Given the description of an element on the screen output the (x, y) to click on. 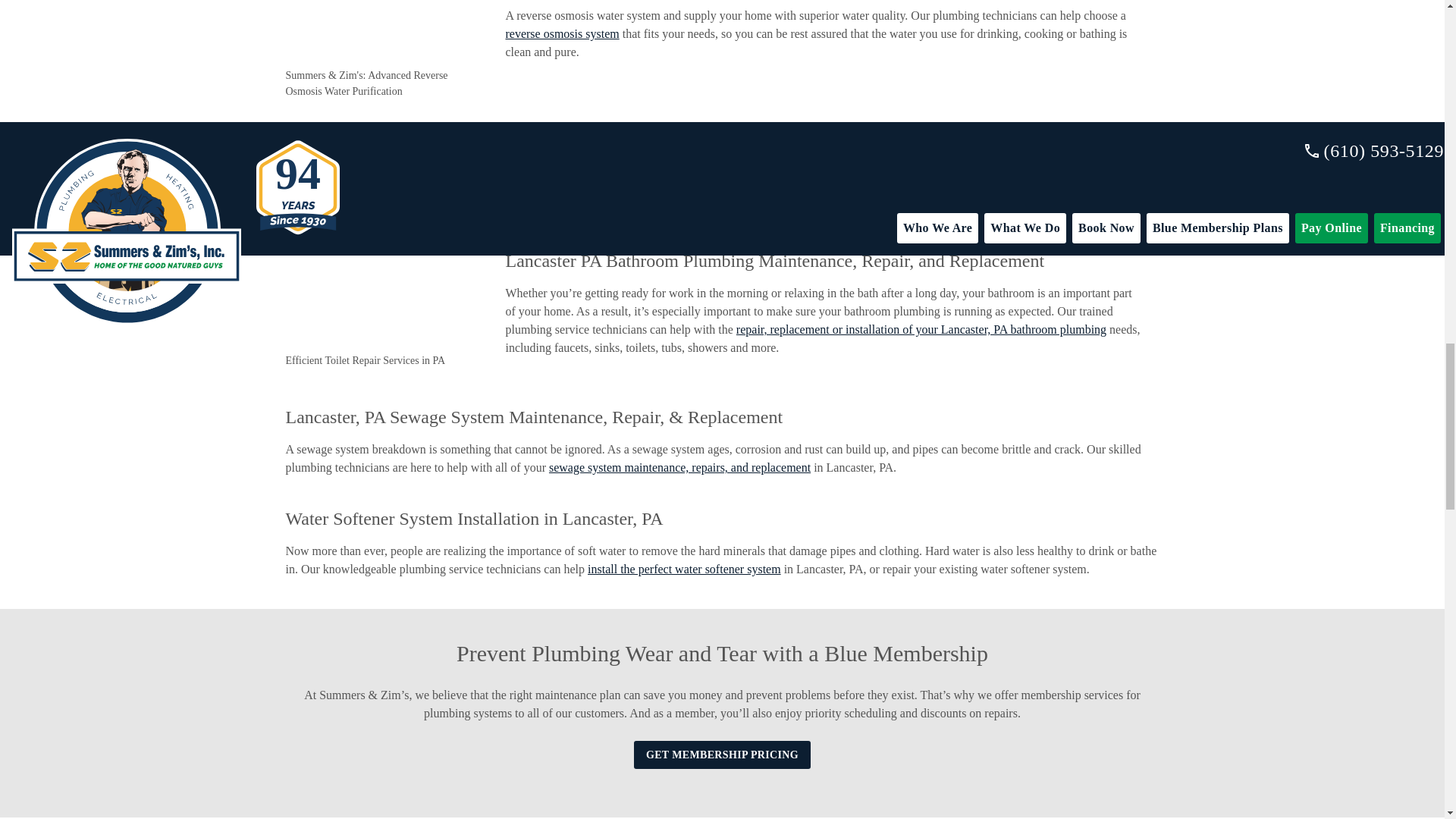
sewage system maintenance, repairs, and replacement (679, 467)
GET MEMBERSHIP PRICING (721, 755)
reverse osmosis system (561, 33)
make sure your drains are clean and running as expected (987, 191)
install the perfect water softener system (684, 568)
